Given the description of an element on the screen output the (x, y) to click on. 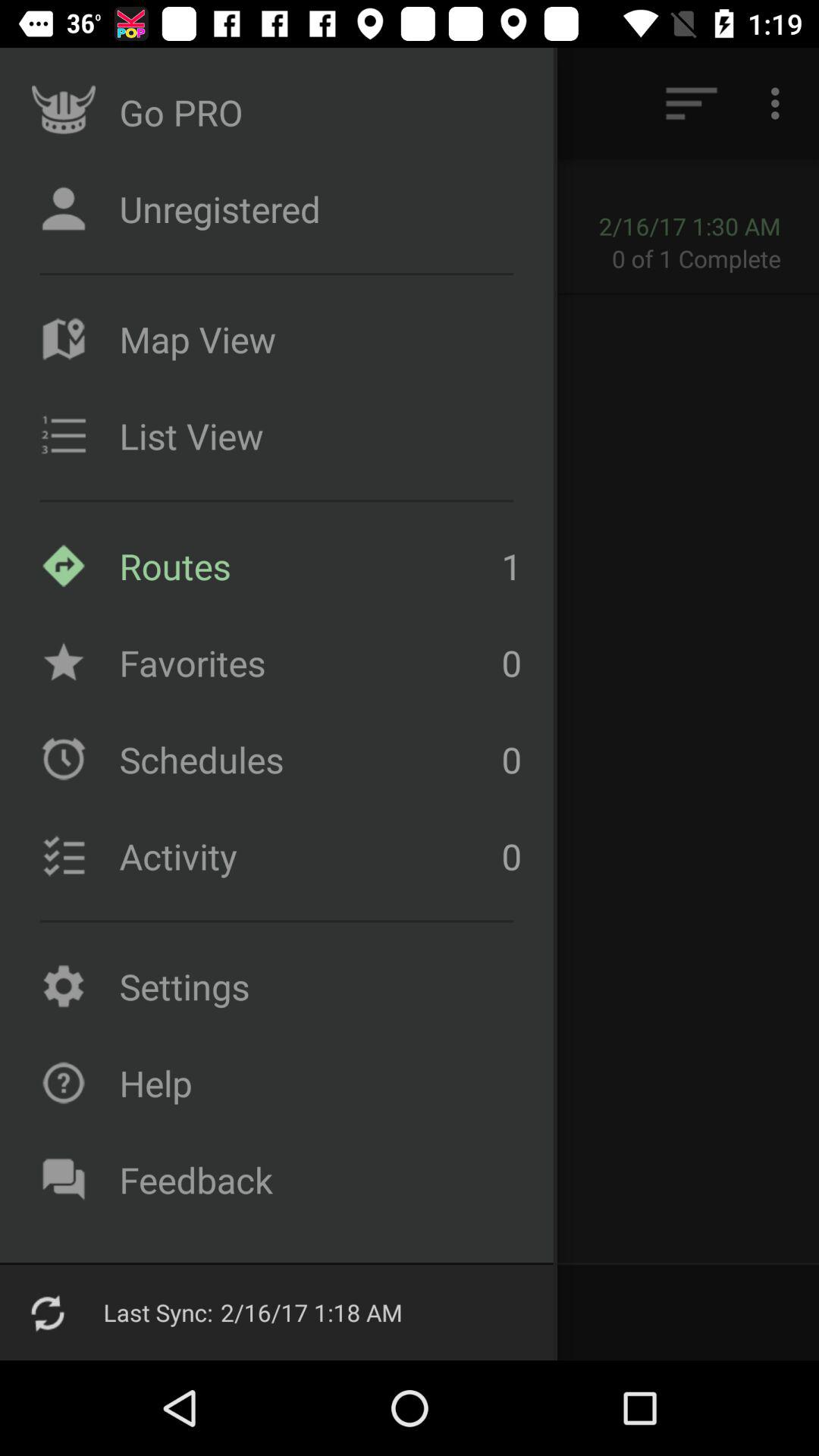
turn off icon below the go pro icon (130, 225)
